Given the description of an element on the screen output the (x, y) to click on. 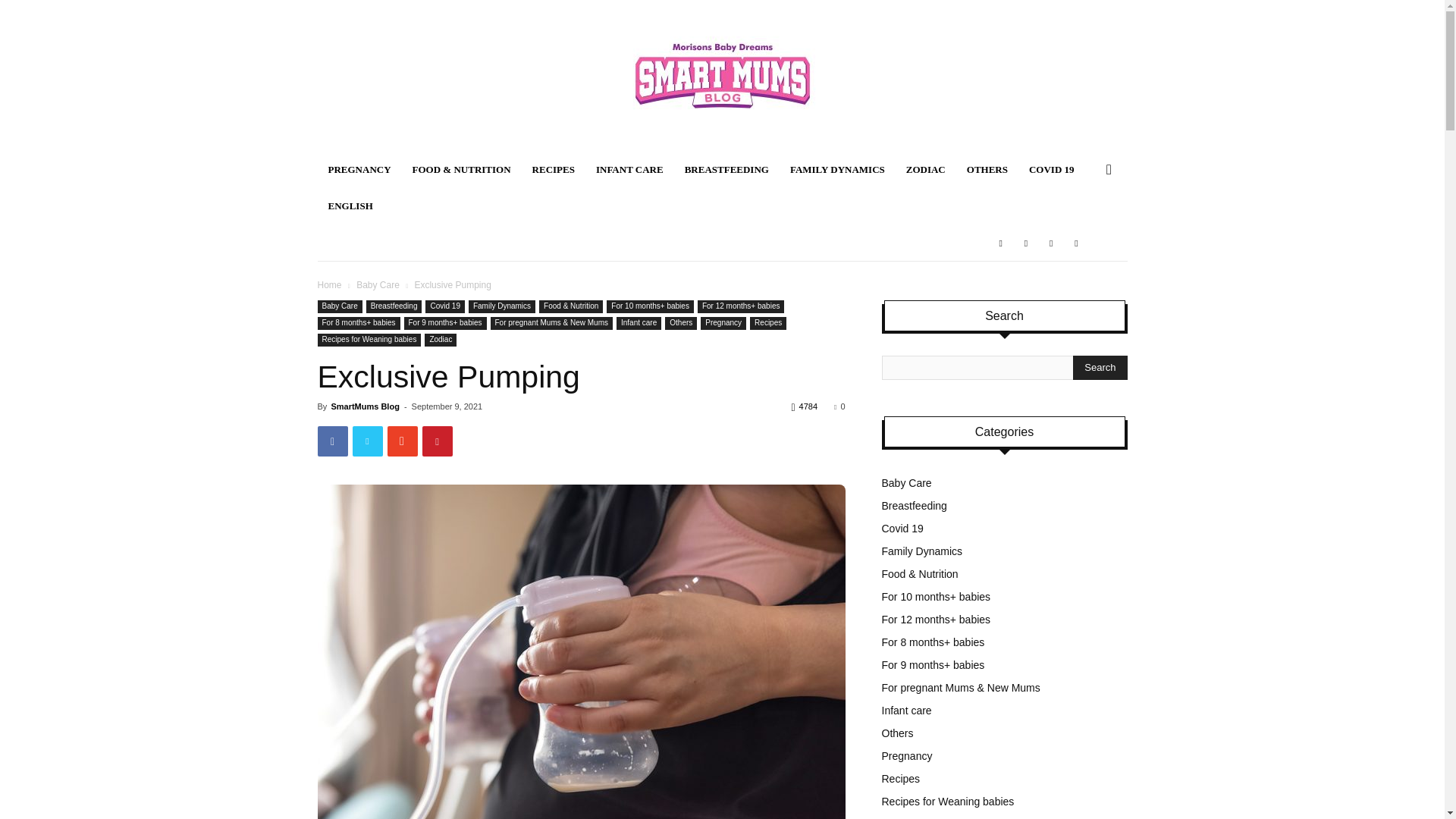
RECIPES (553, 169)
ZODIAC (925, 169)
View all posts in Baby Care (377, 285)
COVID 19 (1050, 169)
PREGNANCY (359, 169)
FAMILY DYNAMICS (836, 169)
English (349, 206)
Search (1099, 367)
OTHERS (986, 169)
INFANT CARE (629, 169)
BREASTFEEDING (726, 169)
